Given the description of an element on the screen output the (x, y) to click on. 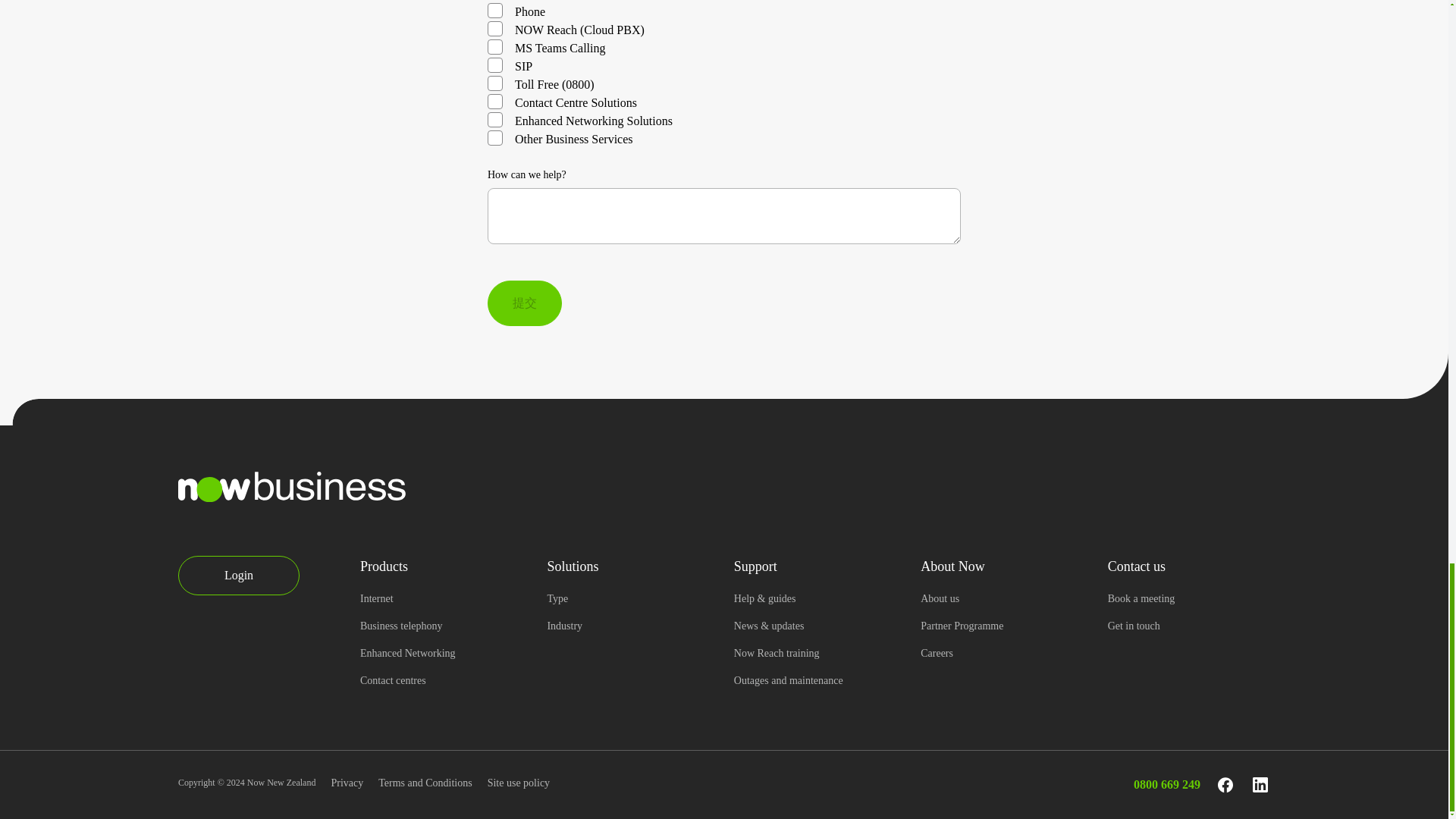
1 (494, 28)
1 (494, 64)
1 (494, 46)
1 (494, 83)
1 (494, 10)
